Given the description of an element on the screen output the (x, y) to click on. 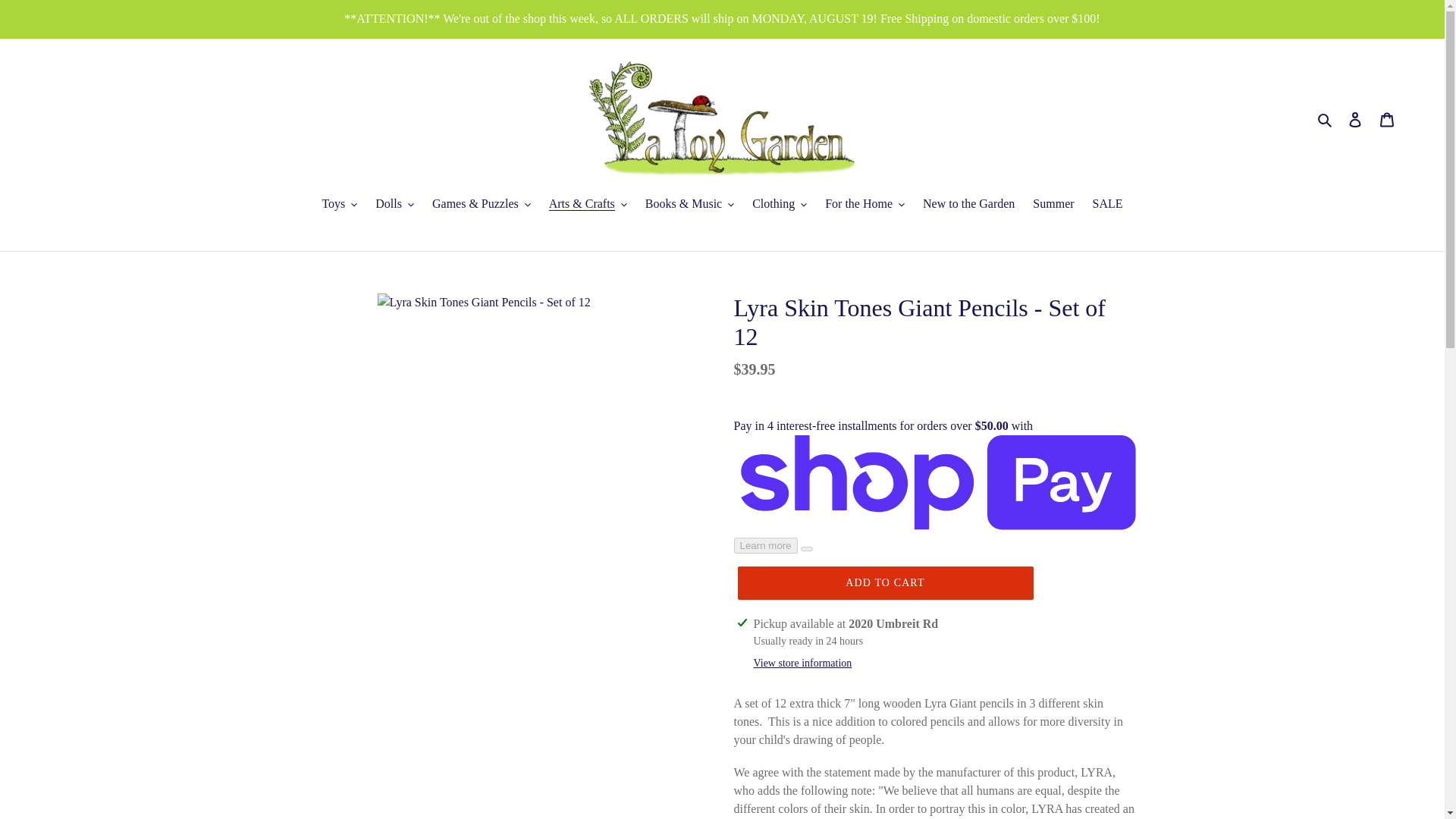
Search (1326, 118)
Cart (1387, 118)
Log in (1355, 118)
